Given the description of an element on the screen output the (x, y) to click on. 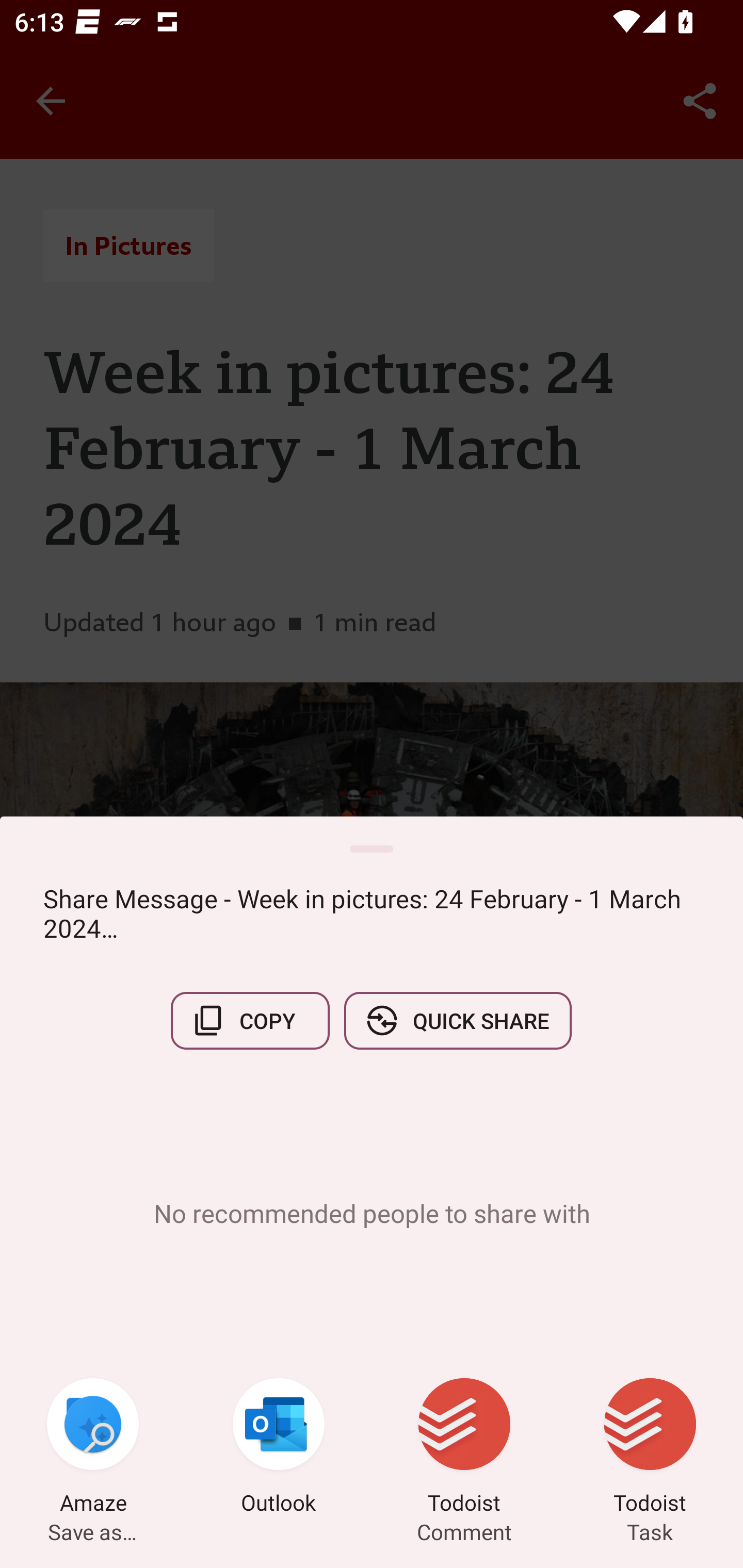
COPY (249, 1020)
QUICK SHARE (457, 1020)
Amaze Save as… (92, 1448)
Outlook (278, 1448)
Todoist Comment (464, 1448)
Todoist Task (650, 1448)
